Given the description of an element on the screen output the (x, y) to click on. 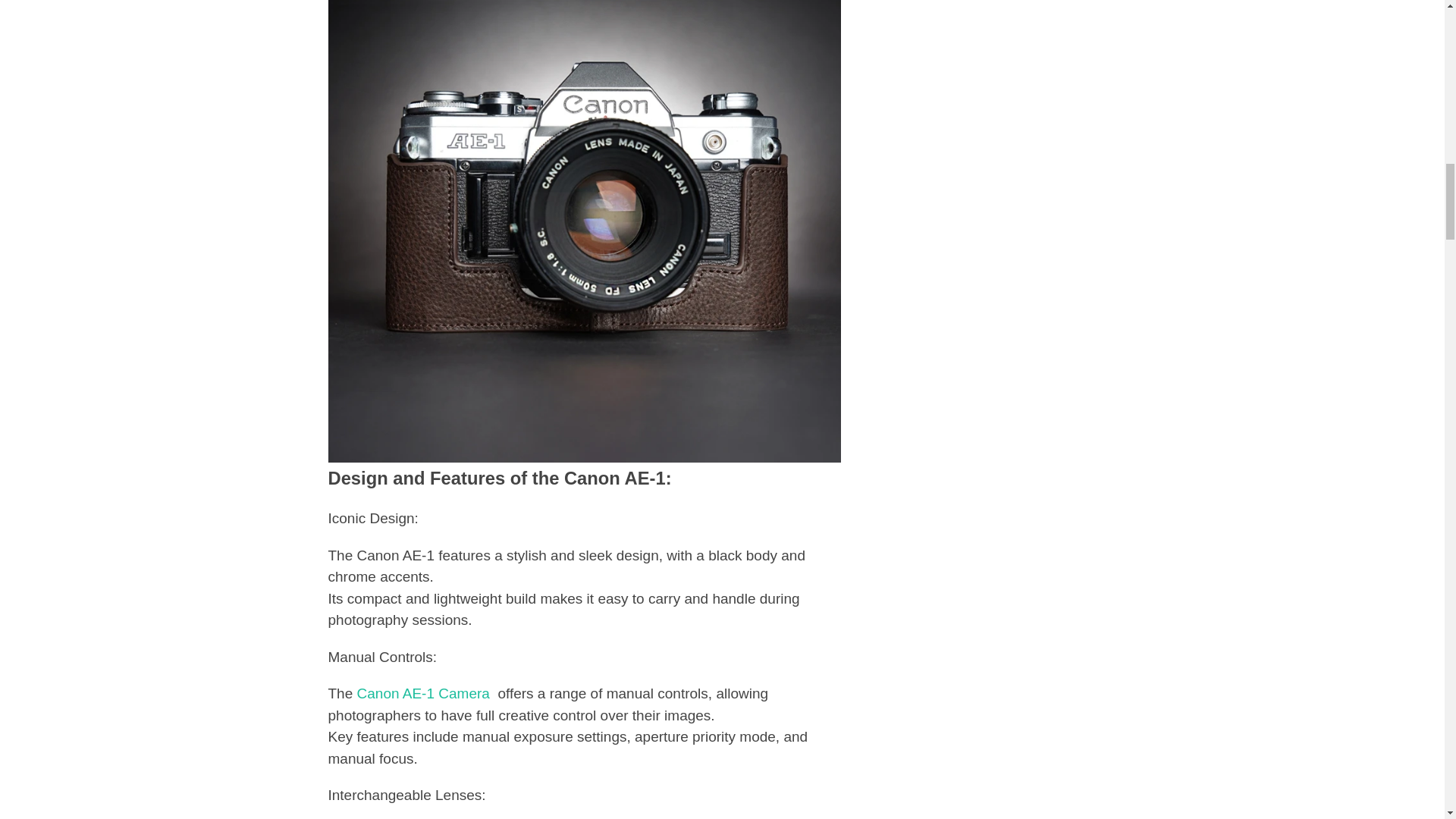
Canon AE-1 Camera  (425, 693)
